Given the description of an element on the screen output the (x, y) to click on. 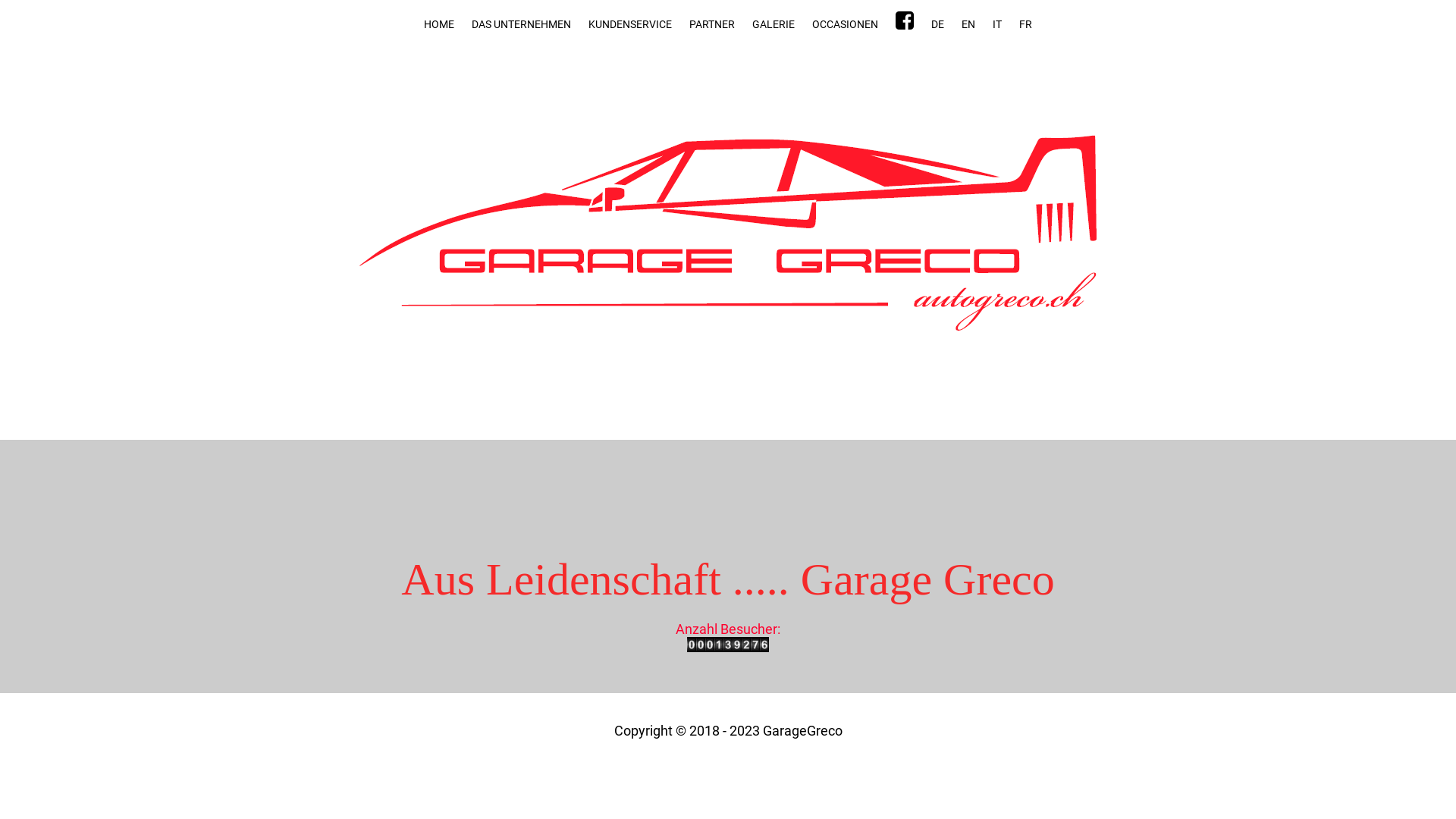
IT Element type: text (997, 23)
DAS UNTERNEHMEN Element type: text (521, 23)
KUNDENSERVICE Element type: text (629, 23)
HOME Element type: text (438, 23)
EN Element type: text (967, 23)
DE Element type: text (937, 23)
GALERIE Element type: text (773, 23)
OCCASIONEN Element type: text (844, 23)
PARTNER Element type: text (711, 23)
Anzahl Besucher: Element type: text (727, 638)
FR Element type: text (1025, 23)
